Given the description of an element on the screen output the (x, y) to click on. 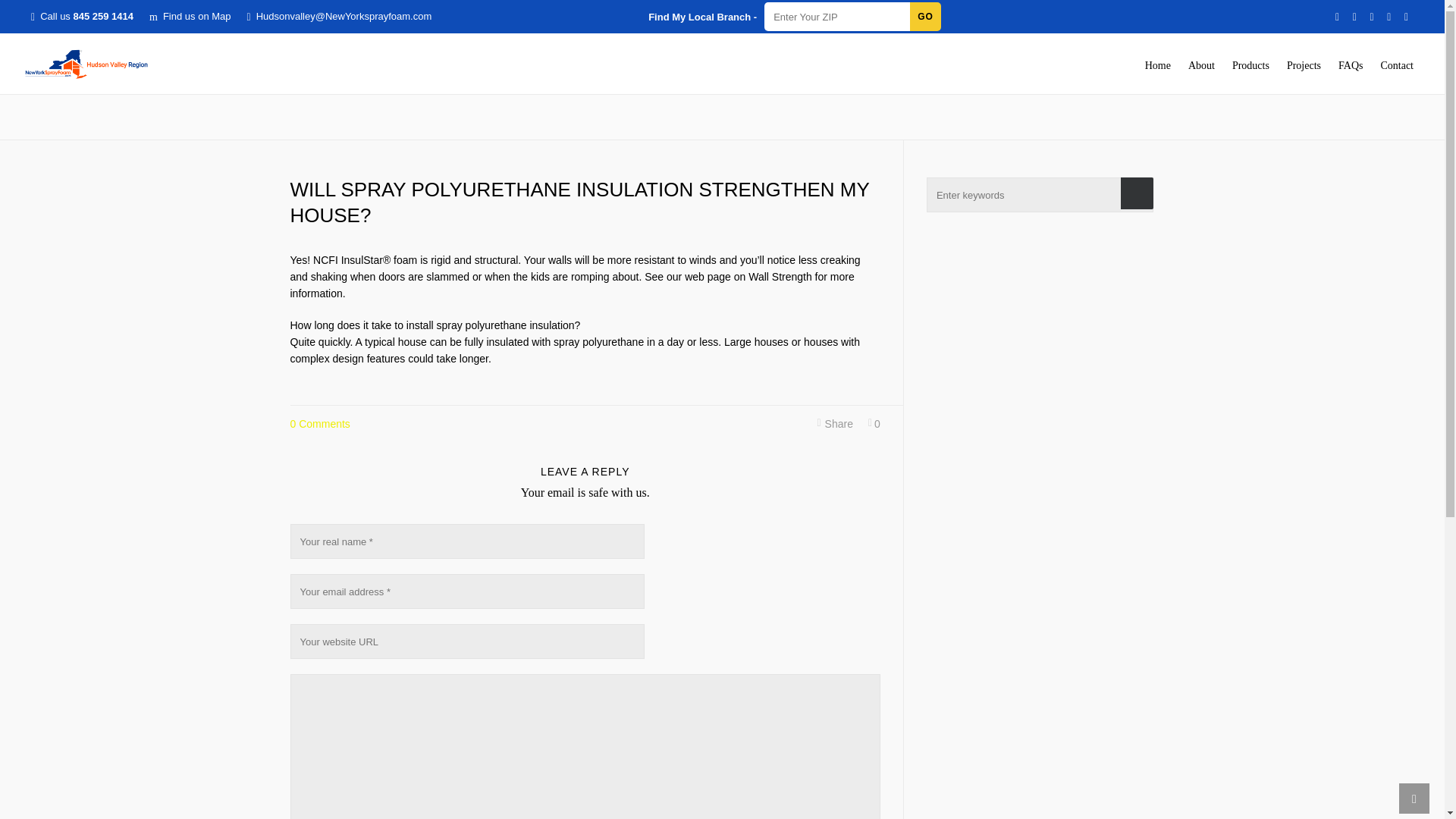
Go (925, 16)
Find us on Map (190, 16)
0 Comments (319, 423)
0 Comments (319, 423)
Go (925, 16)
